Given the description of an element on the screen output the (x, y) to click on. 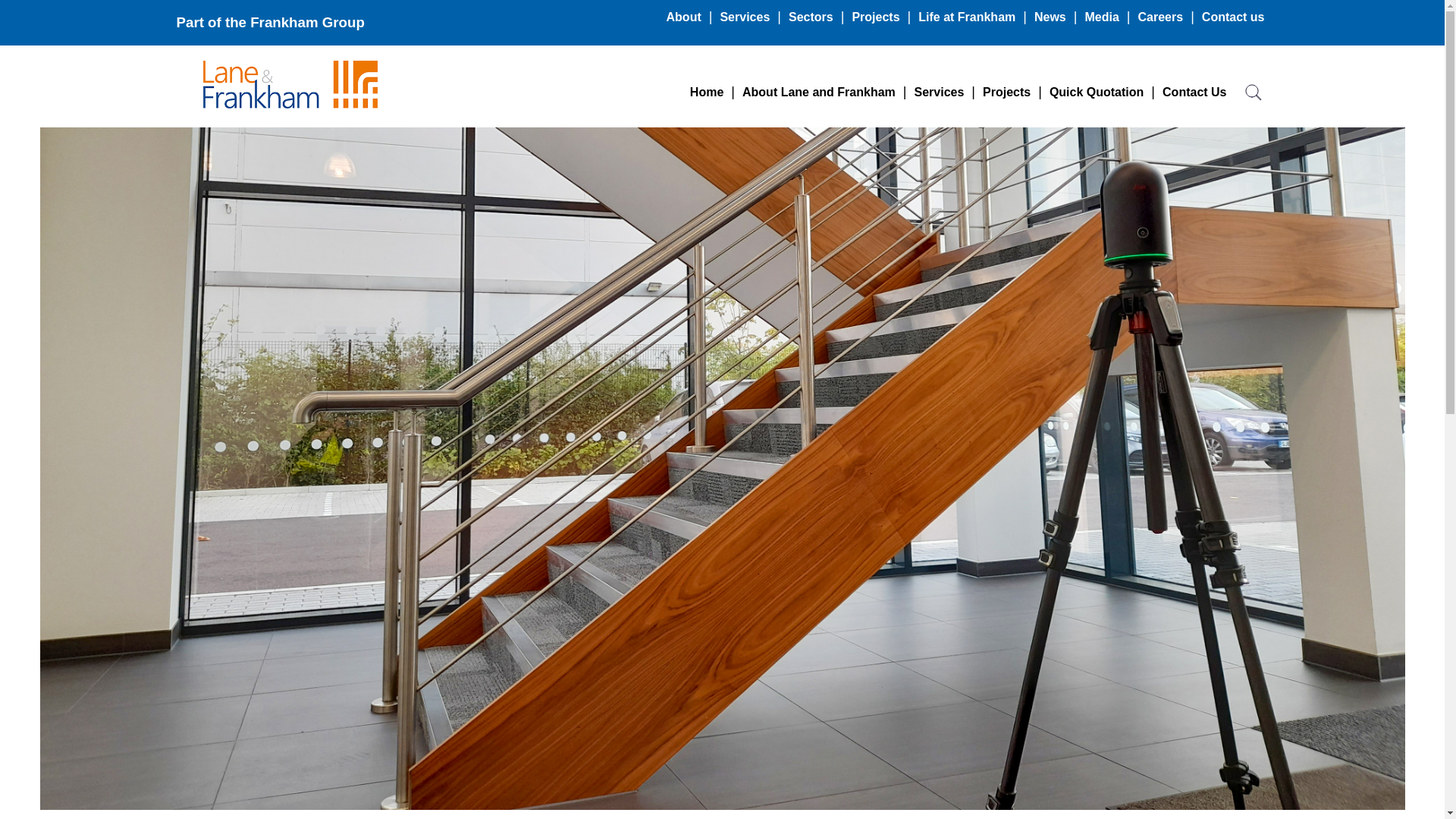
About (683, 16)
Services (744, 16)
Contact Us (1194, 91)
Media (1101, 16)
Projects (1005, 91)
Life at Frankham (966, 16)
About Lane and Frankham (818, 91)
Frankham Group (307, 22)
Contact us (1233, 16)
Sectors (810, 16)
Home (705, 91)
Careers (1161, 16)
Quick Quotation (1096, 91)
News (1050, 16)
Services (939, 91)
